Given the description of an element on the screen output the (x, y) to click on. 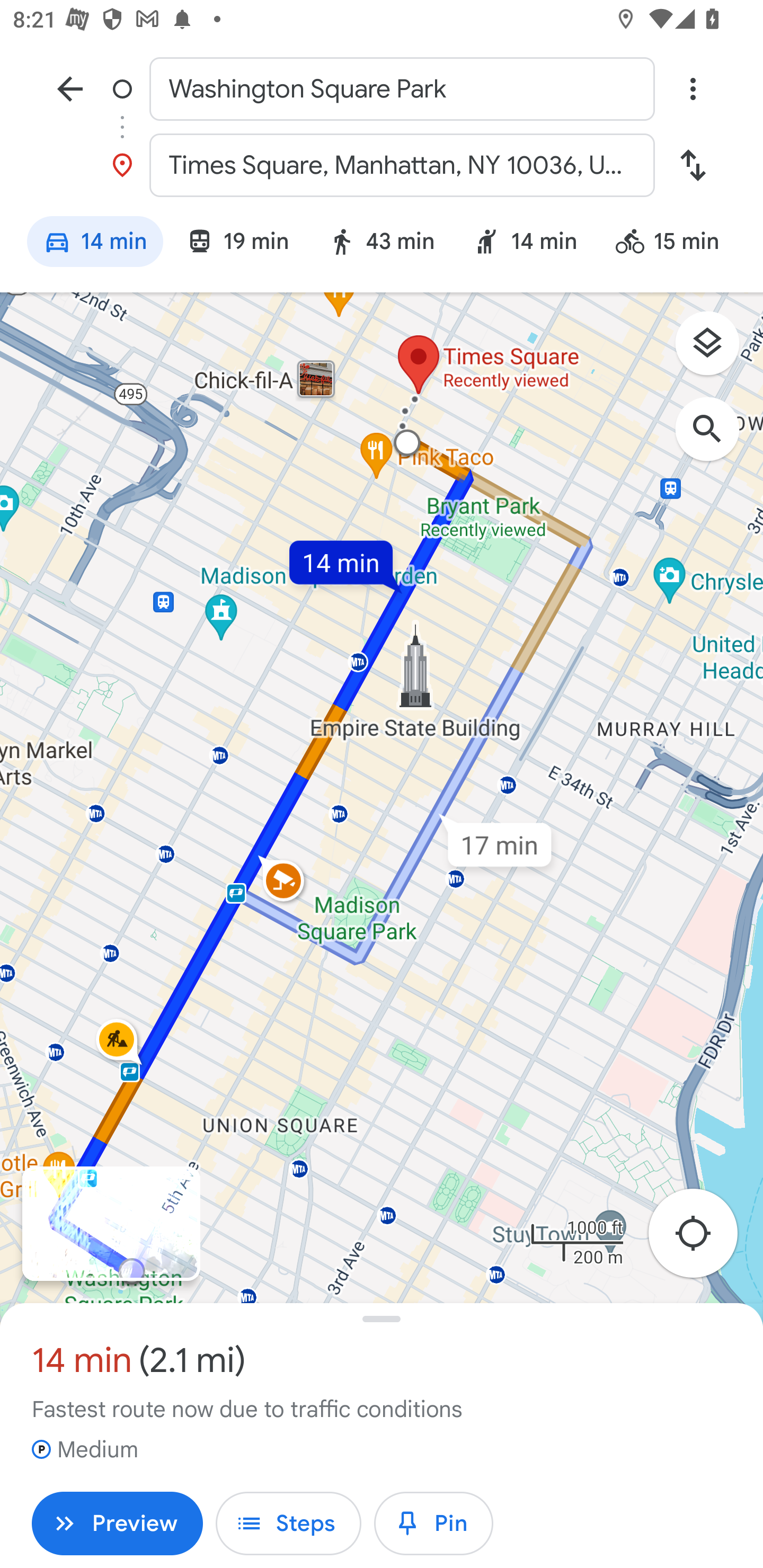
Navigate up (70, 88)
Overflow menu (692, 88)
Swap start and destination (692, 165)
Transit mode: 19 min 19 min (237, 244)
Walking mode: 43 min 43 min (380, 244)
Ride service: 14 min 14 min (524, 244)
Bicycling mode: 15 min 15 min (675, 244)
Layers (716, 349)
Search along route (716, 438)
Open Immersive View for routes (110, 1223)
Re-center map to your location (702, 1238)
Steps Steps Steps (288, 1522)
Pin trip Pin Pin trip (433, 1522)
